Given the description of an element on the screen output the (x, y) to click on. 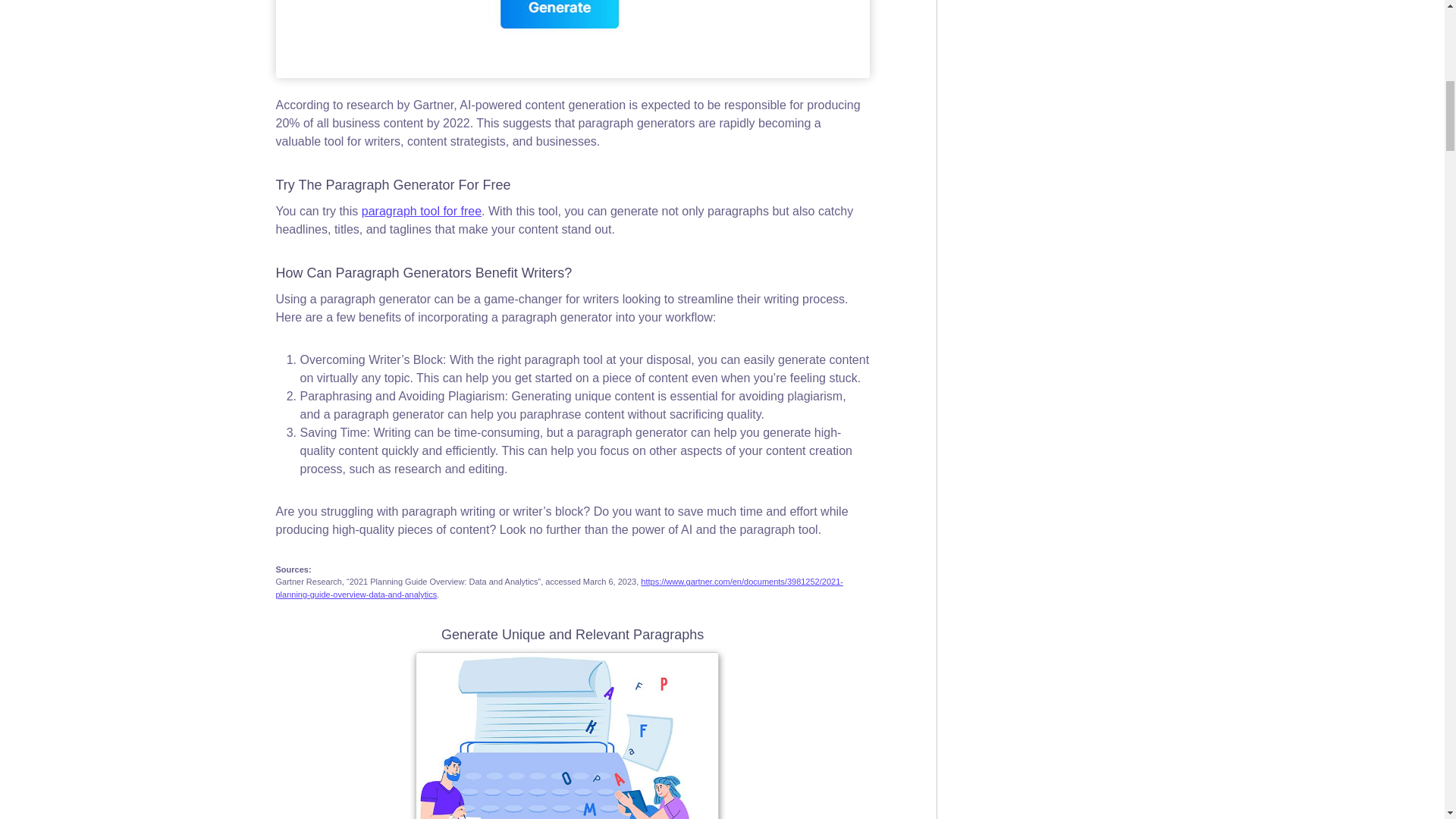
paragraph tool for free (421, 210)
Try The Paragraph Generator For Free (393, 184)
